Given the description of an element on the screen output the (x, y) to click on. 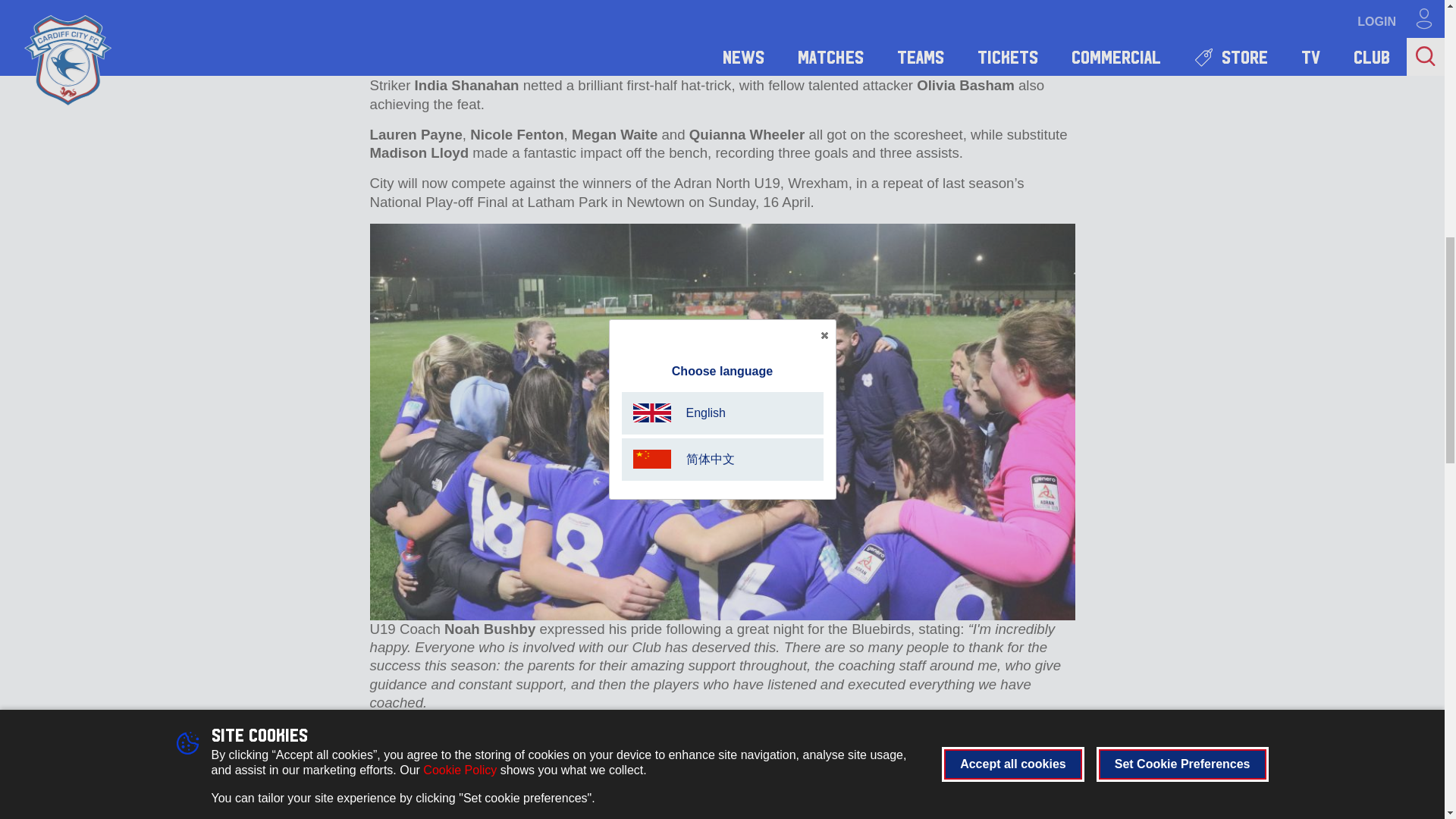
3rd party ad content (1167, 225)
